Given the description of an element on the screen output the (x, y) to click on. 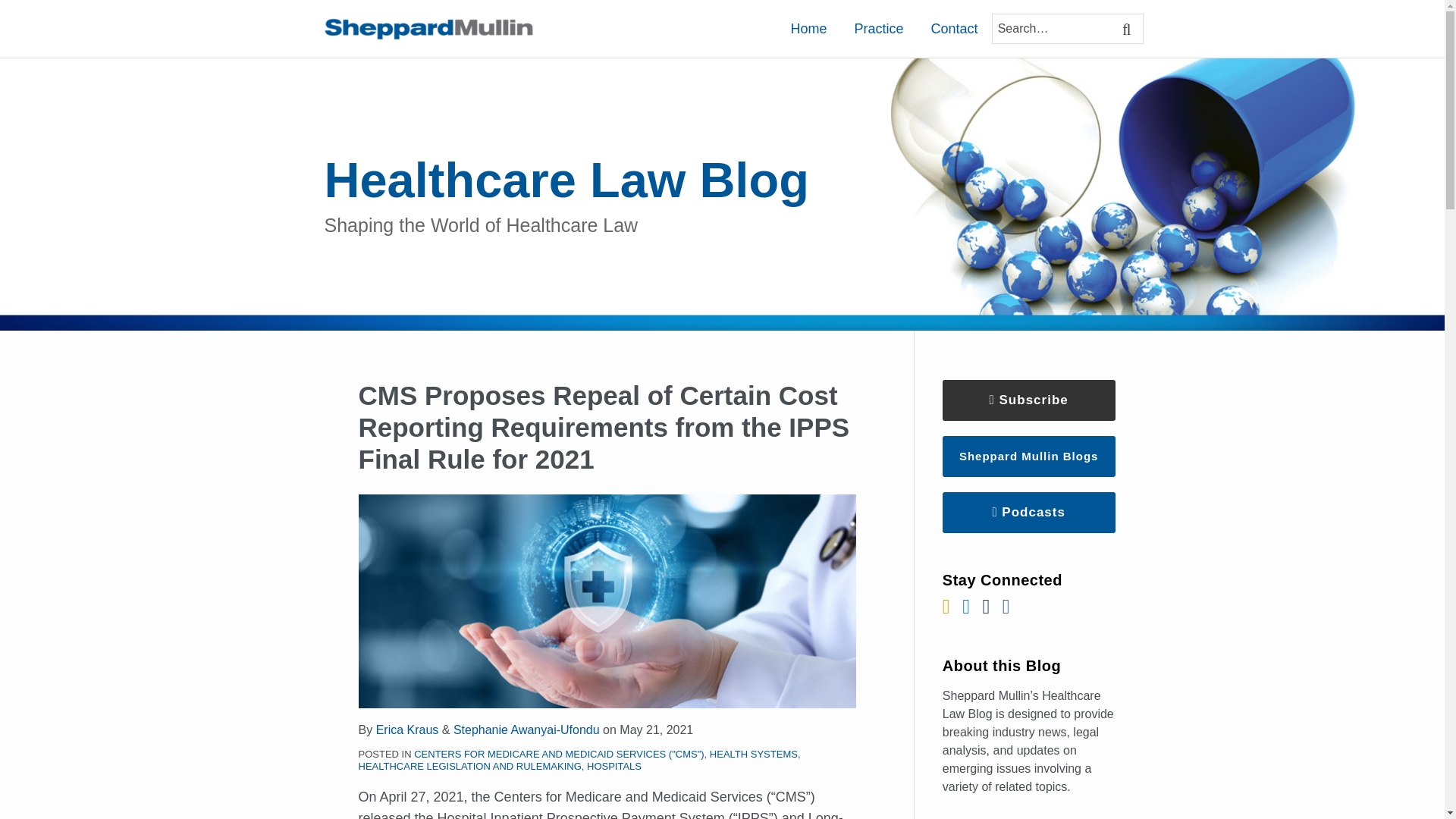
HEALTH SYSTEMS (753, 754)
HEALTHCARE LEGISLATION AND RULEMAKING (469, 766)
Practice (877, 28)
Stephanie Awanyai-Ufondu (525, 729)
Home (808, 28)
Erica Kraus (407, 729)
Healthcare Law Blog (566, 180)
Contact (953, 28)
SEARCH (1128, 28)
HOSPITALS (614, 766)
